Given the description of an element on the screen output the (x, y) to click on. 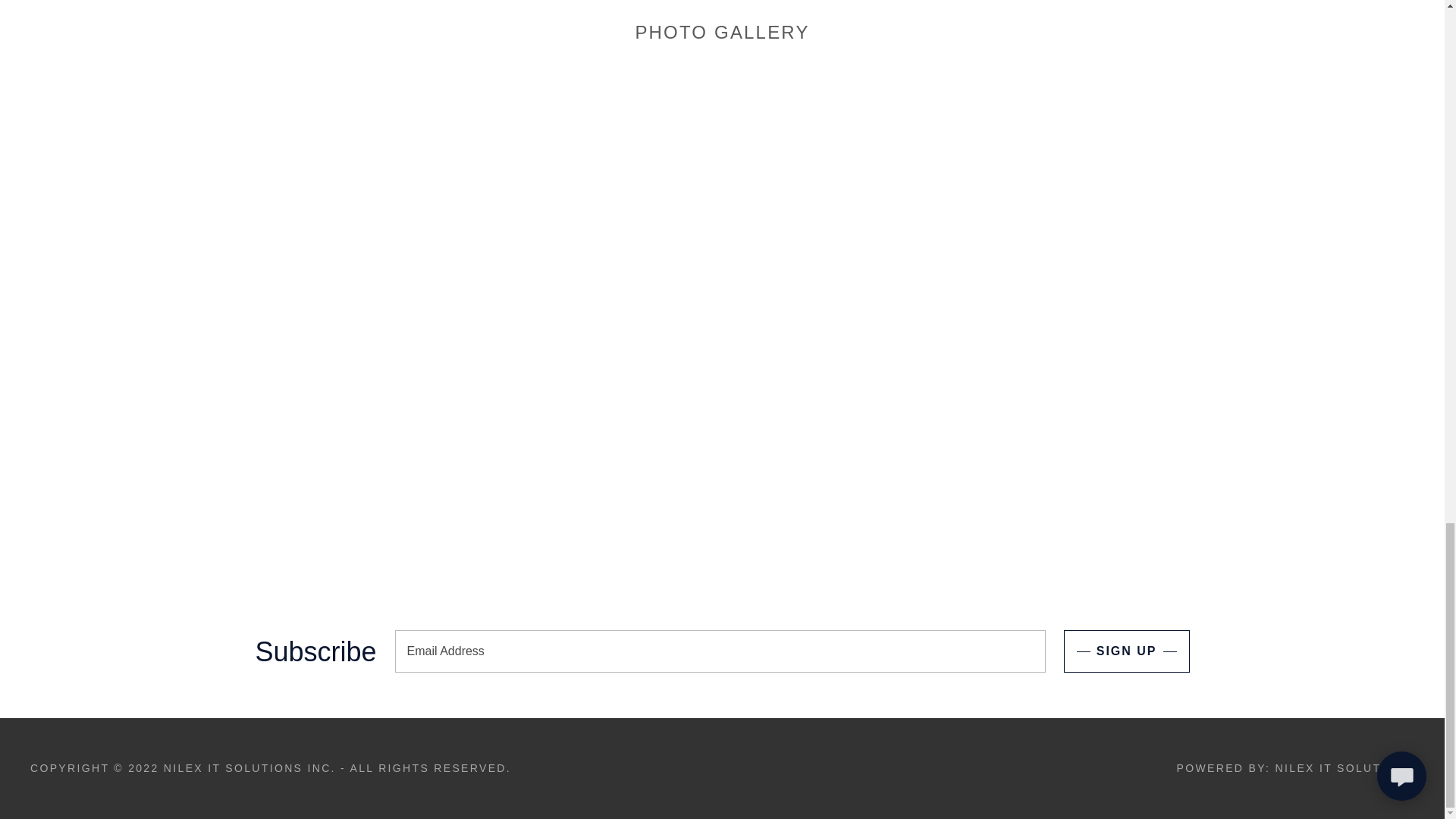
SIGN UP (1126, 650)
